Given the description of an element on the screen output the (x, y) to click on. 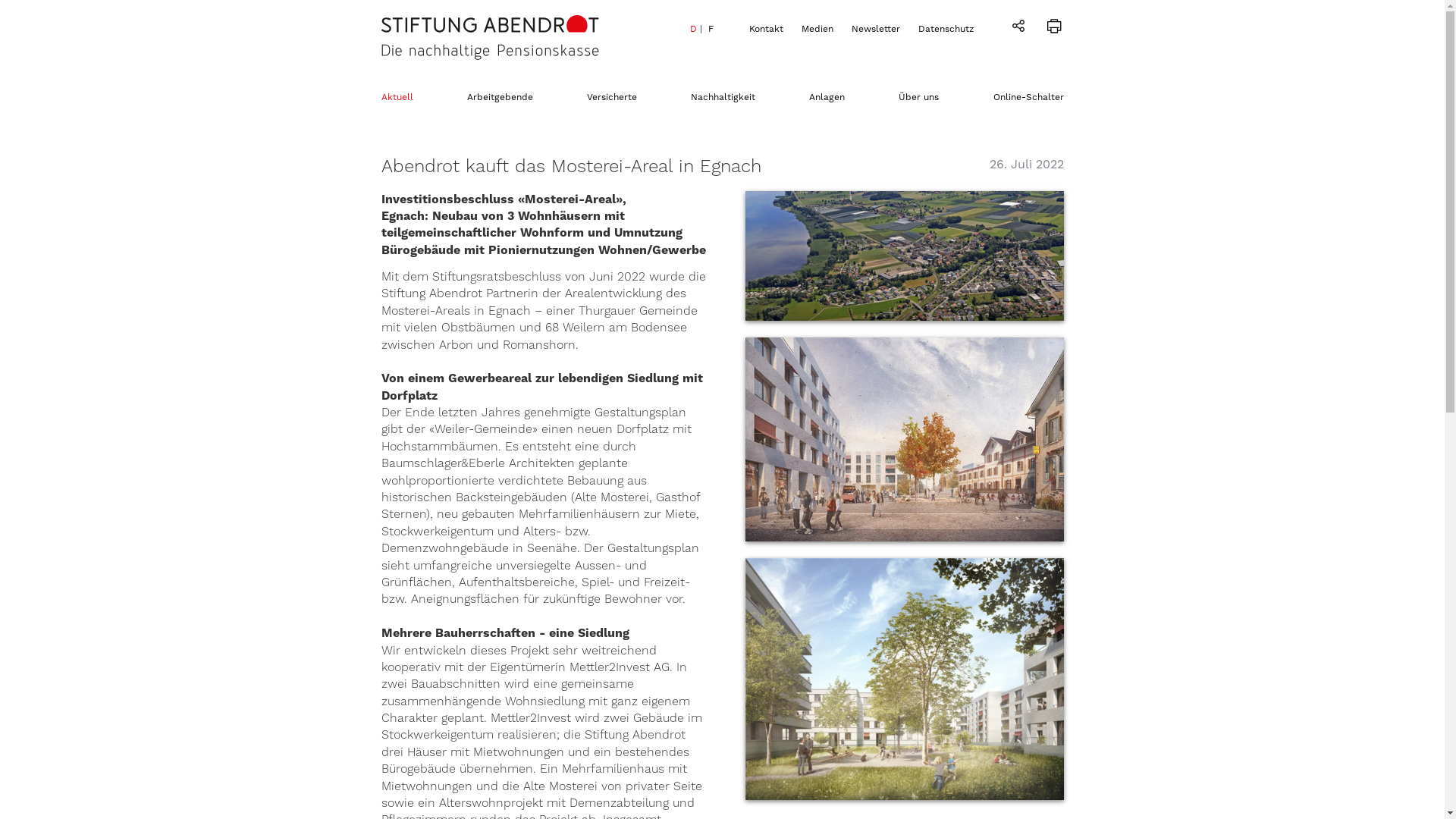
Kontakt Element type: text (766, 28)
Aktuell Element type: text (396, 96)
Nachhaltigkeit Element type: text (722, 96)
Medien Element type: text (816, 28)
Newsletter Element type: text (874, 28)
Anlagen Element type: text (826, 96)
Arbeitgebende Element type: text (500, 96)
F Element type: text (710, 28)
Versicherte Element type: text (611, 96)
Online-Schalter Element type: text (1028, 96)
Datenschutz Element type: text (944, 28)
